Given the description of an element on the screen output the (x, y) to click on. 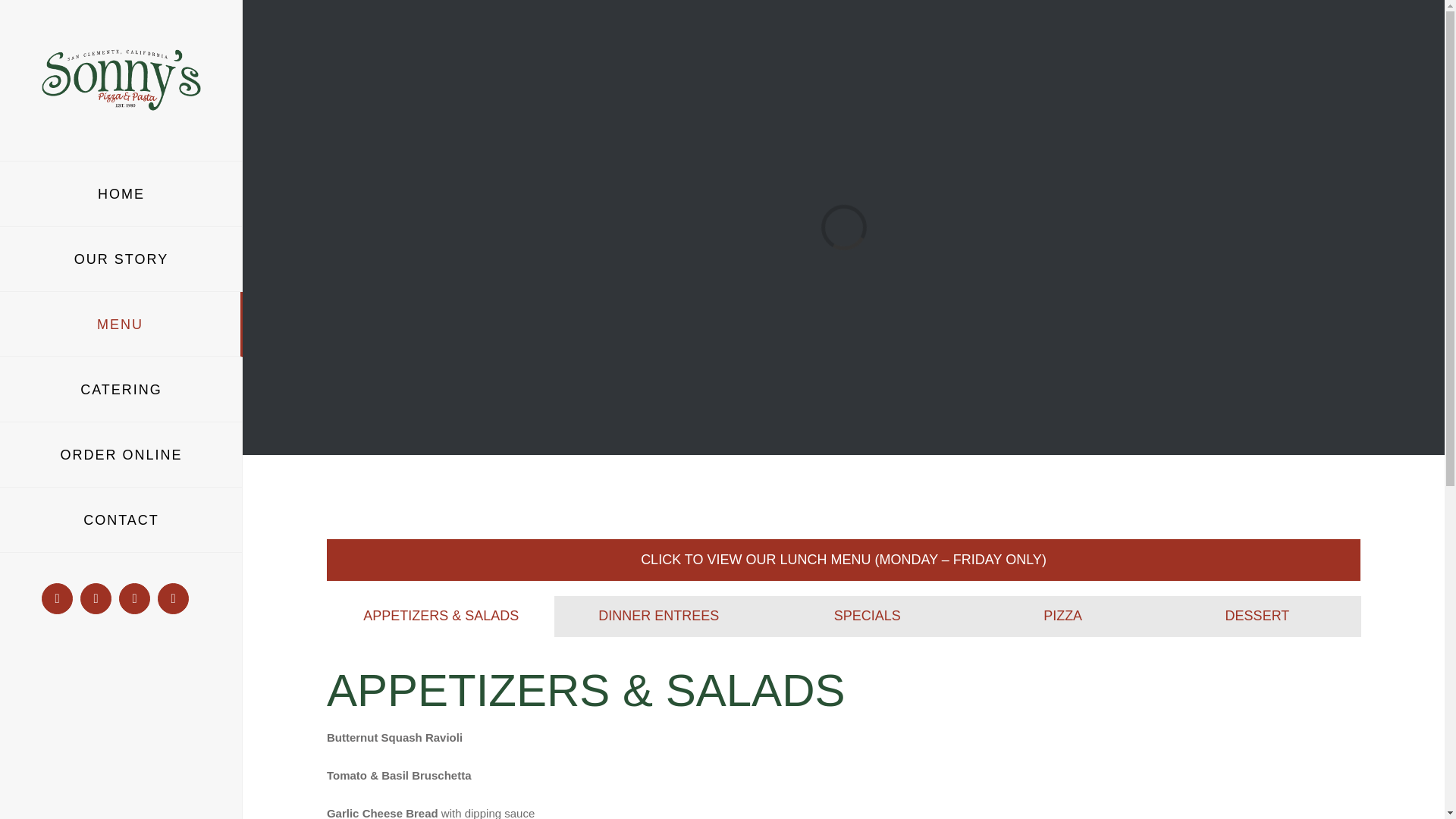
Facebook (57, 598)
Yelp (173, 598)
MENU (121, 324)
DINNER ENTREES (657, 616)
PIZZA (1062, 616)
ORDER ONLINE (121, 454)
OUR STORY (121, 258)
HOME (121, 193)
Twitter (134, 598)
Twitter (134, 598)
